Given the description of an element on the screen output the (x, y) to click on. 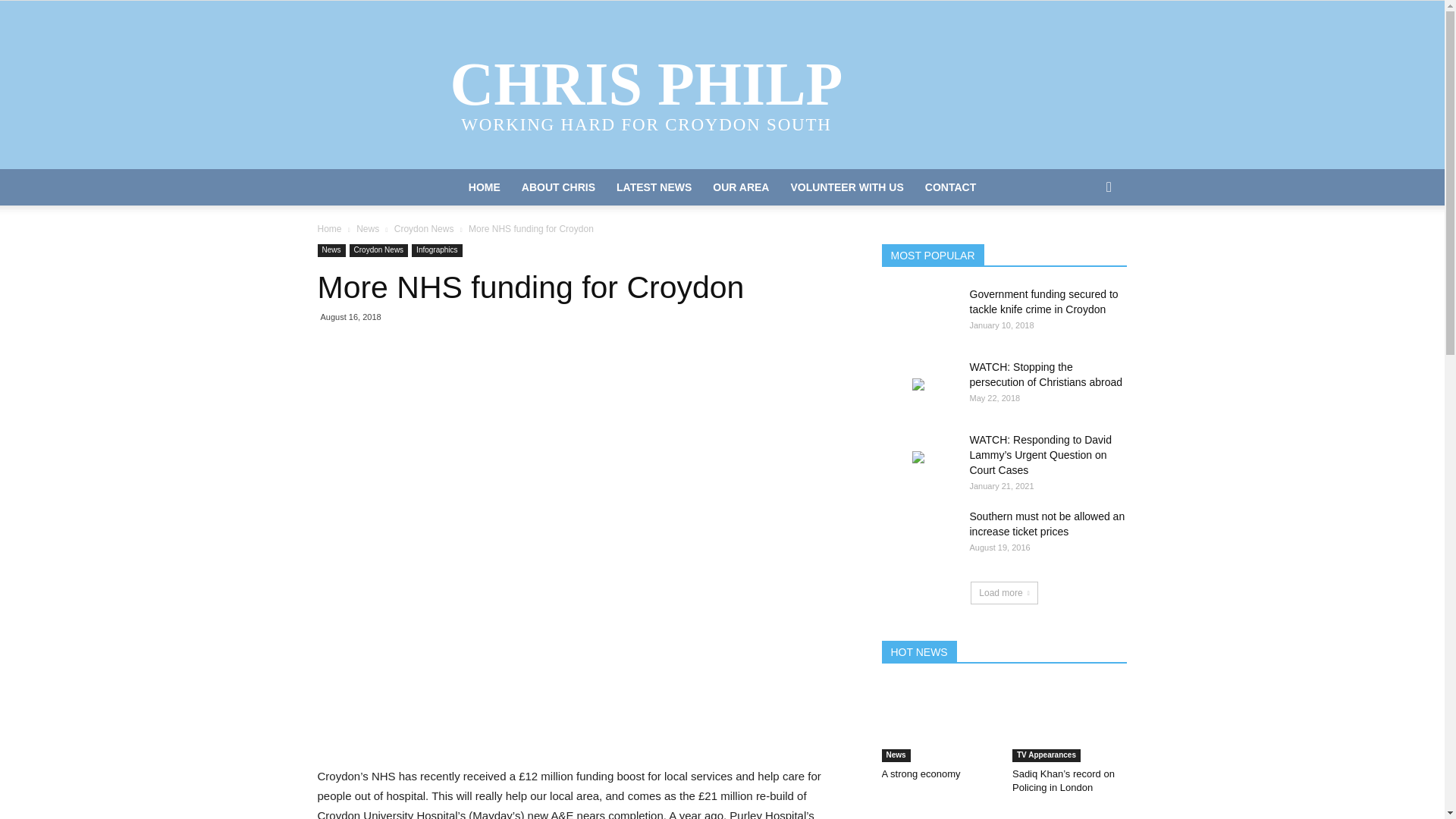
Search (1085, 247)
Infographics (436, 250)
VOLUNTEER WITH US (846, 186)
View all posts in News (367, 228)
HOME (484, 186)
News (367, 228)
Croydon News (424, 228)
News (331, 250)
Croydon News (379, 250)
CONTACT (950, 186)
